Given the description of an element on the screen output the (x, y) to click on. 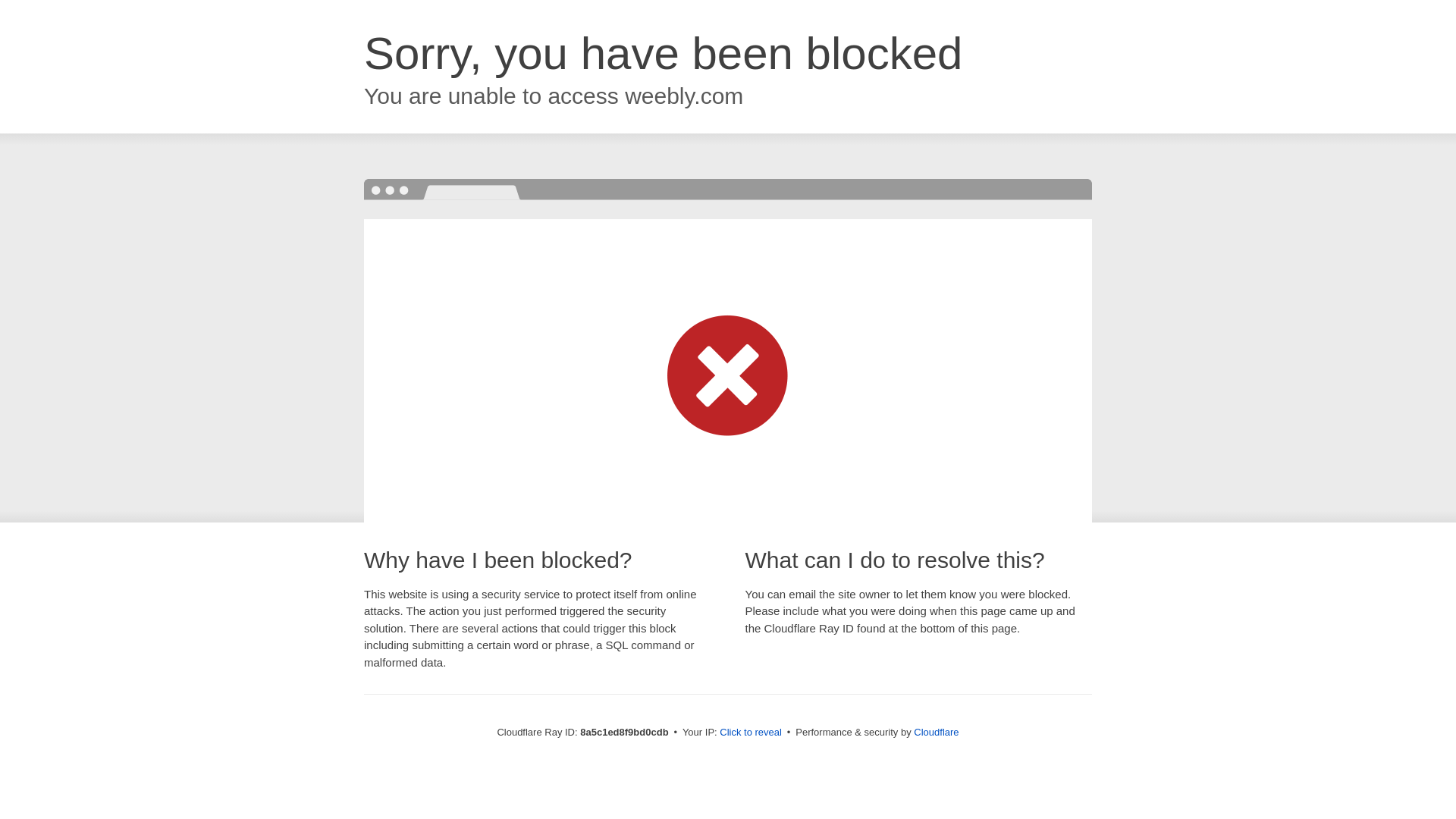
Click to reveal (750, 732)
Cloudflare (936, 731)
